Given the description of an element on the screen output the (x, y) to click on. 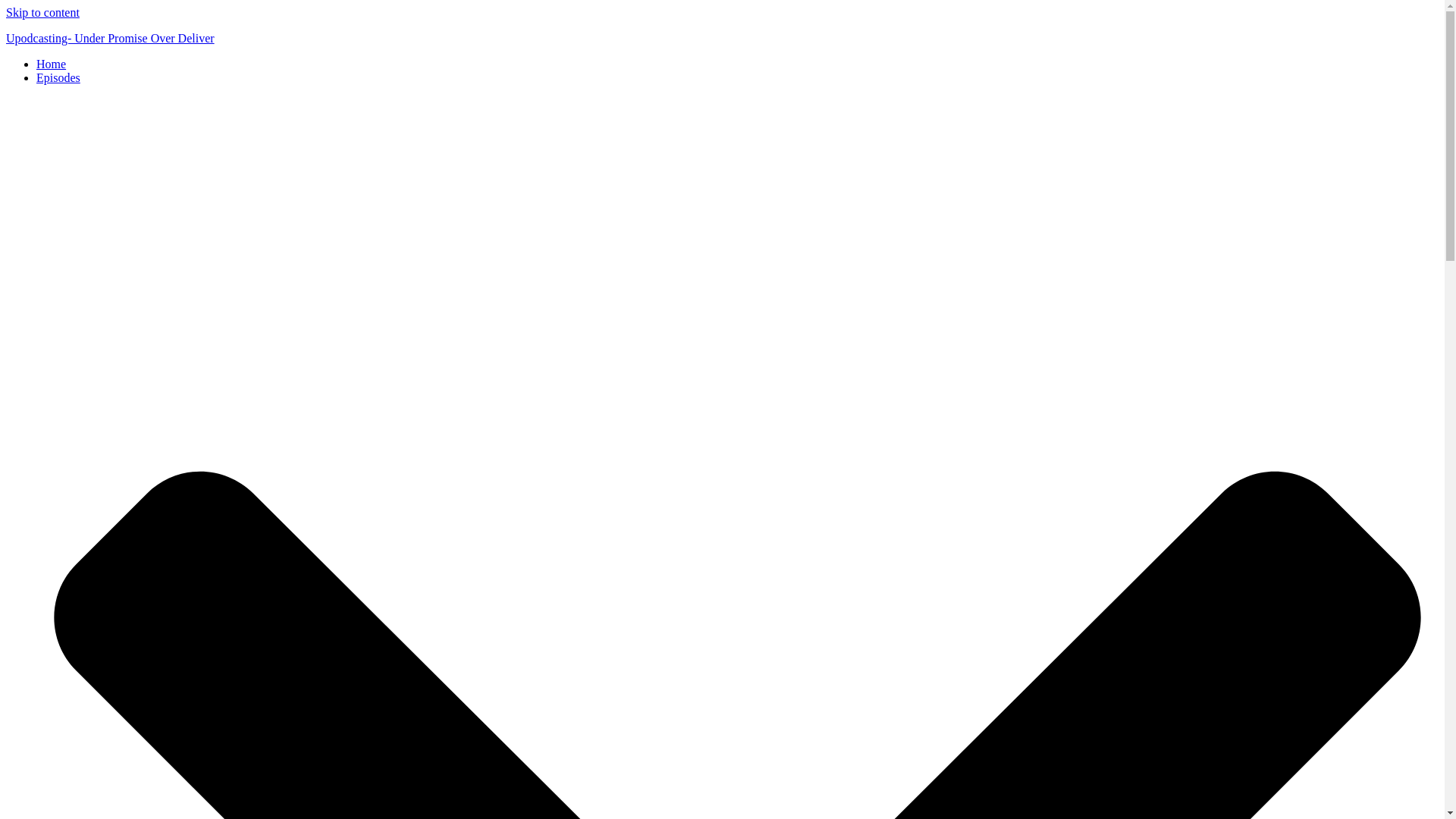
Skip to content (42, 11)
Home (50, 63)
